Given the description of an element on the screen output the (x, y) to click on. 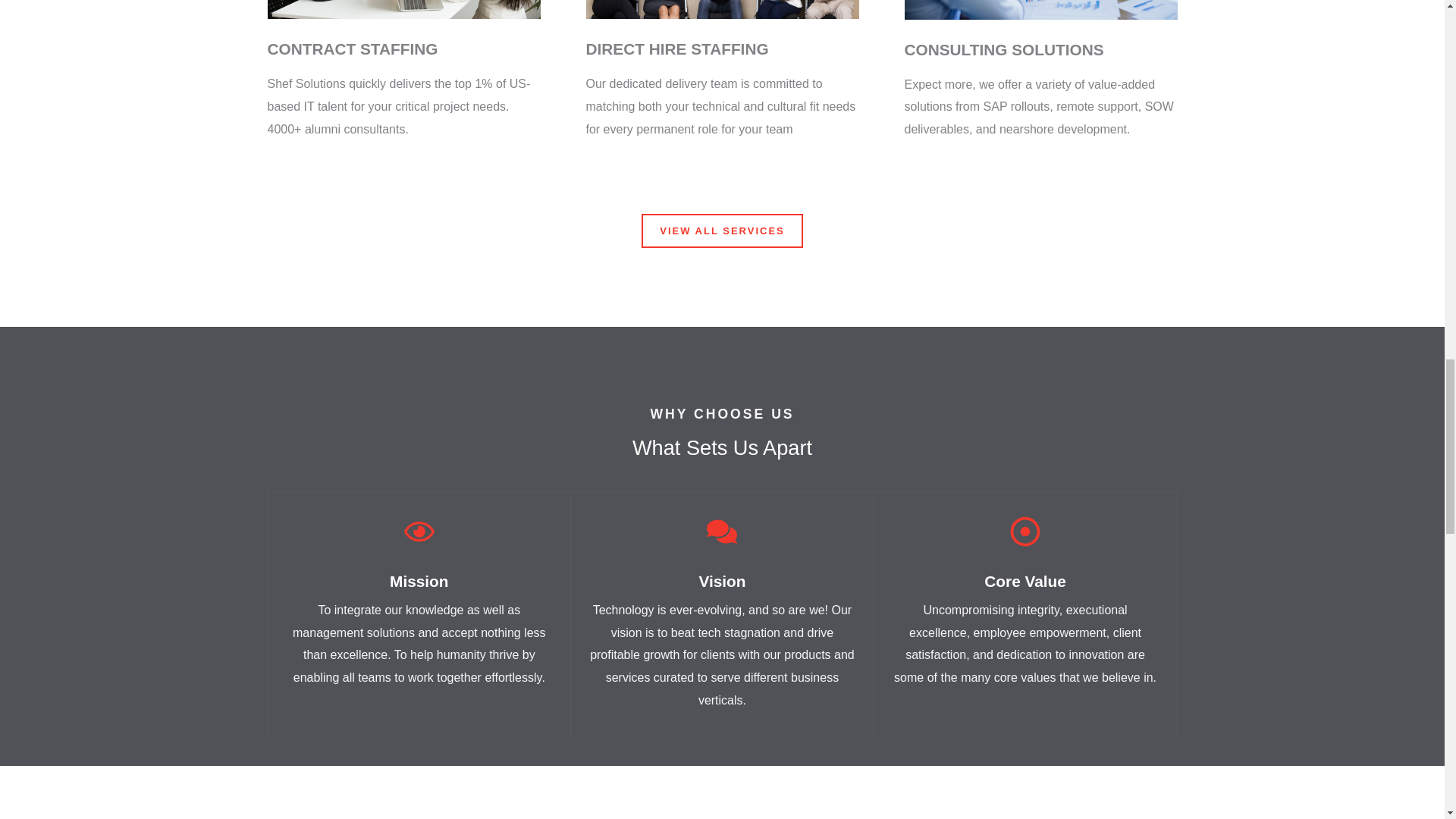
CONSULTING SOLUTIONS (1003, 49)
DIRECT HIRE STAFFING (676, 48)
VIEW ALL SERVICES (722, 230)
CONTRACT STAFFING (352, 48)
